Given the description of an element on the screen output the (x, y) to click on. 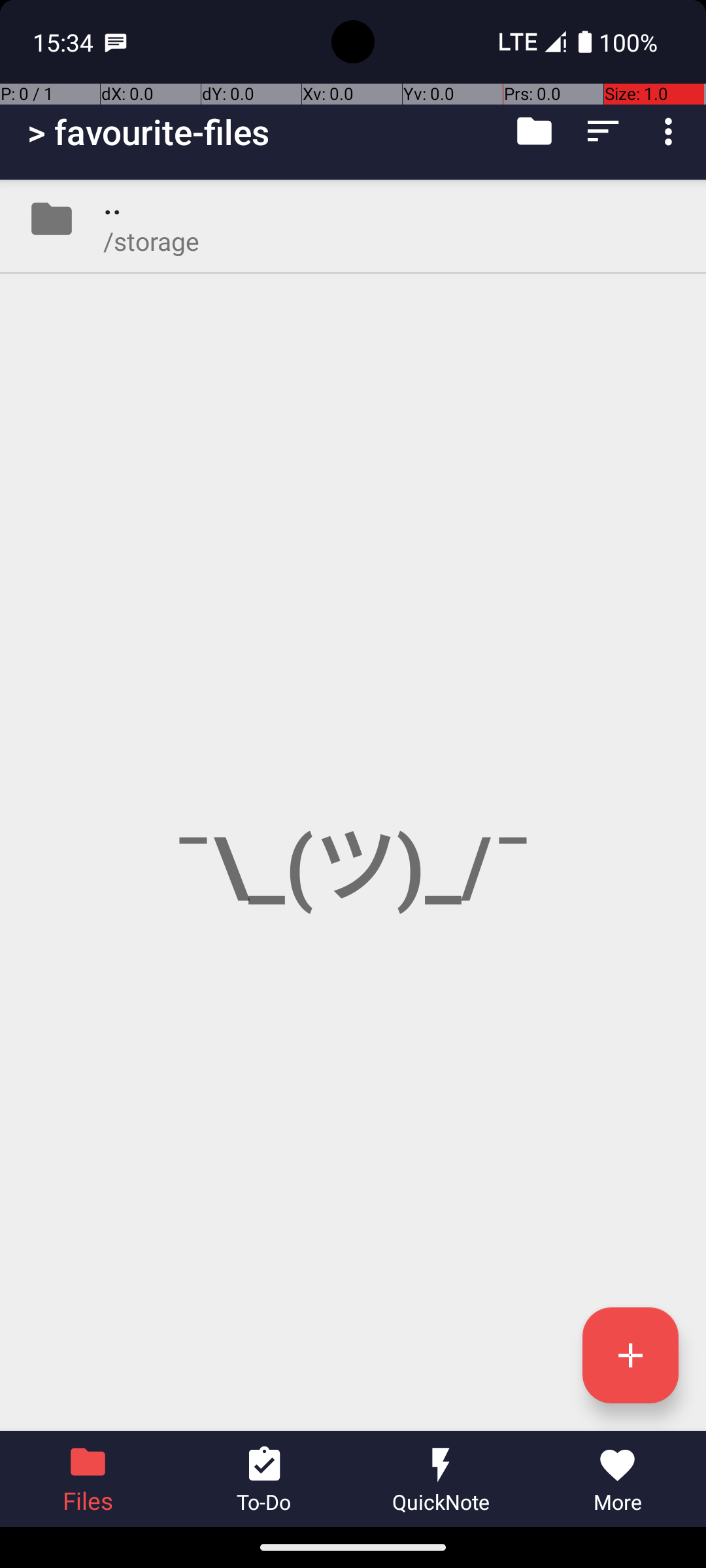
> favourite-files Element type: android.widget.TextView (148, 131)
